Given the description of an element on the screen output the (x, y) to click on. 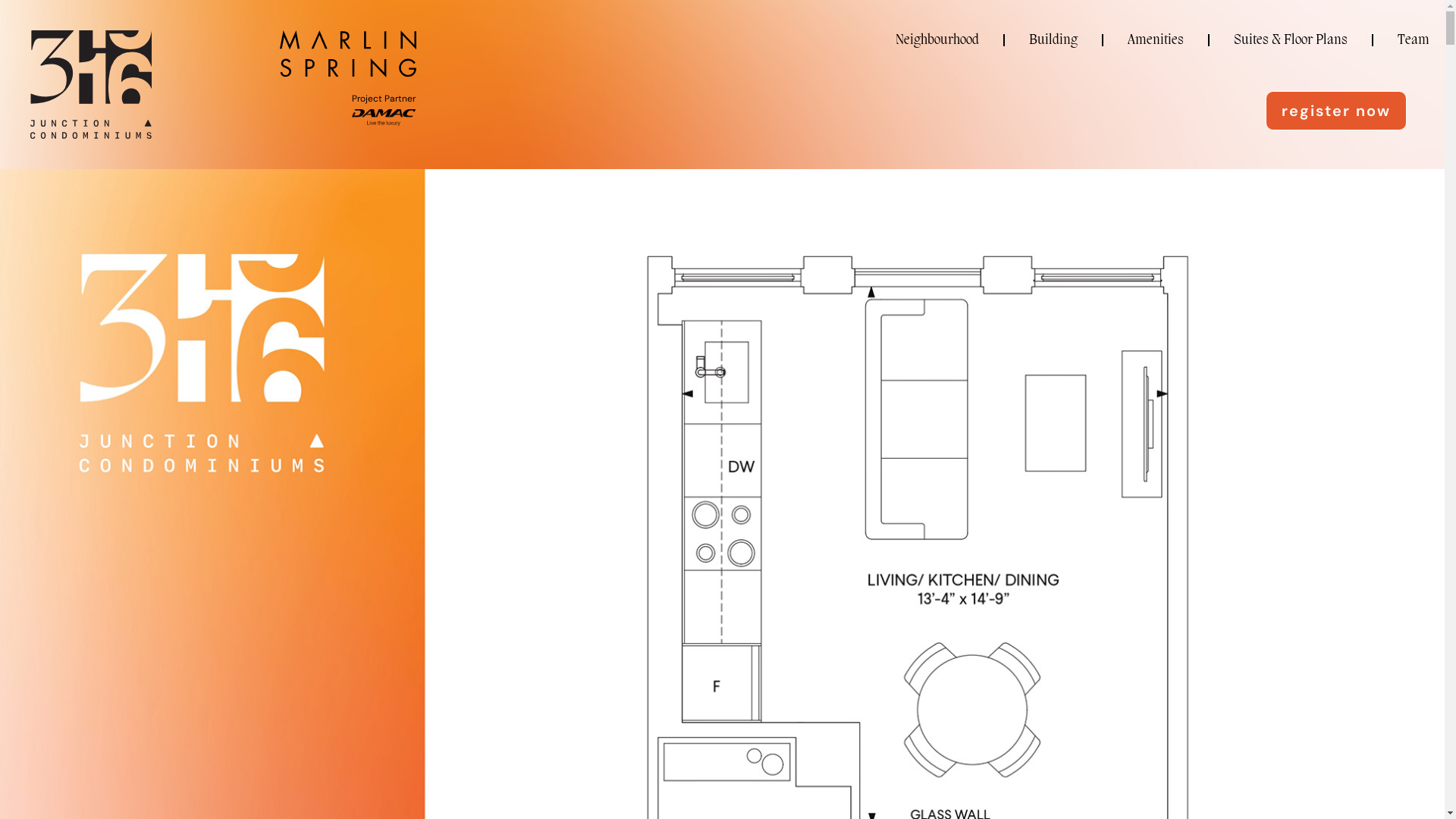
Neighbourhood Element type: text (937, 39)
register now Element type: text (1335, 110)
Team Element type: text (1413, 39)
Amenities Element type: text (1155, 39)
Building Element type: text (1053, 39)
Suites & Floor Plans Element type: text (1290, 39)
